Given the description of an element on the screen output the (x, y) to click on. 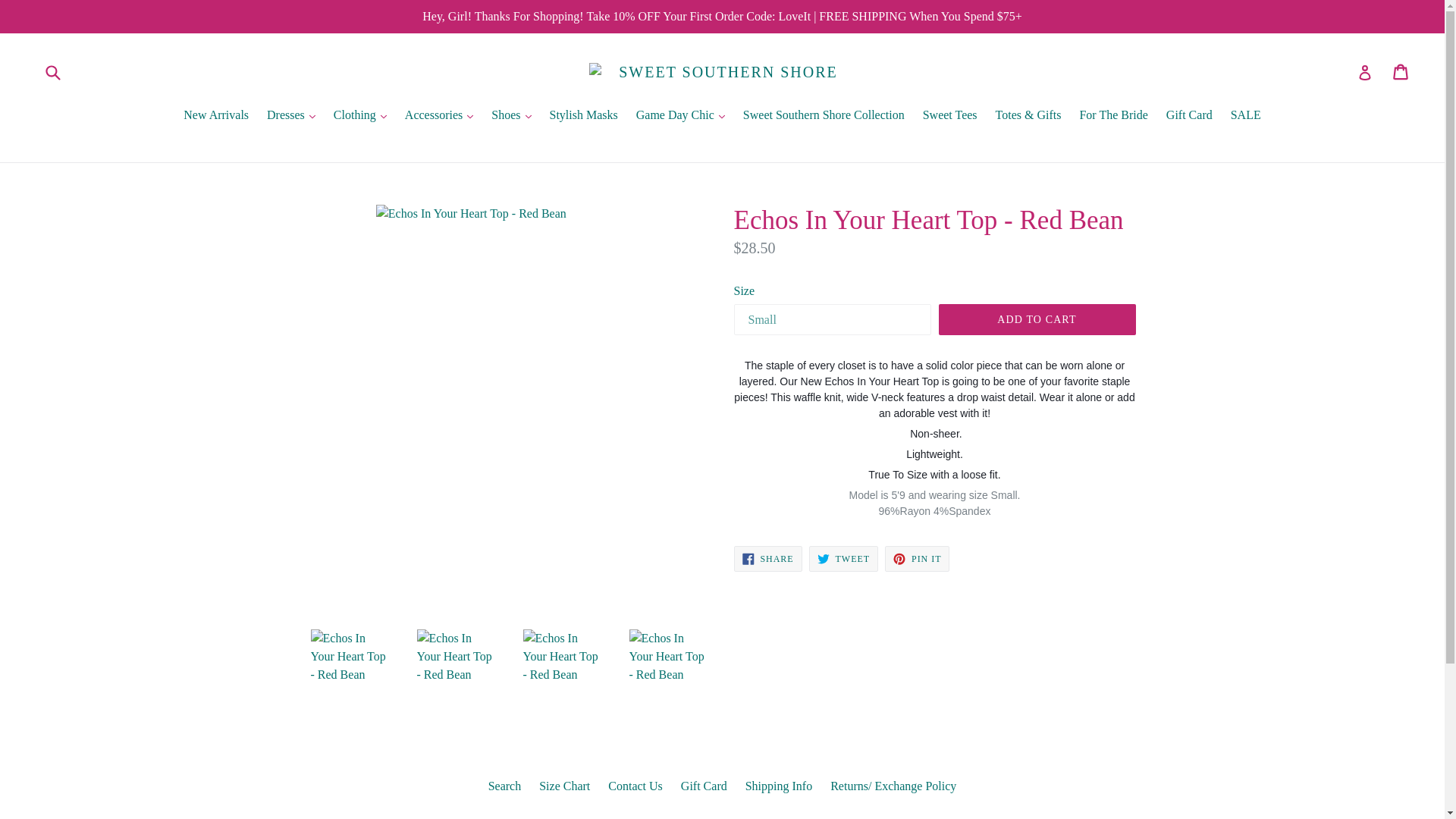
Pin on Pinterest (917, 558)
Tweet on Twitter (843, 558)
Share on Facebook (767, 558)
